Given the description of an element on the screen output the (x, y) to click on. 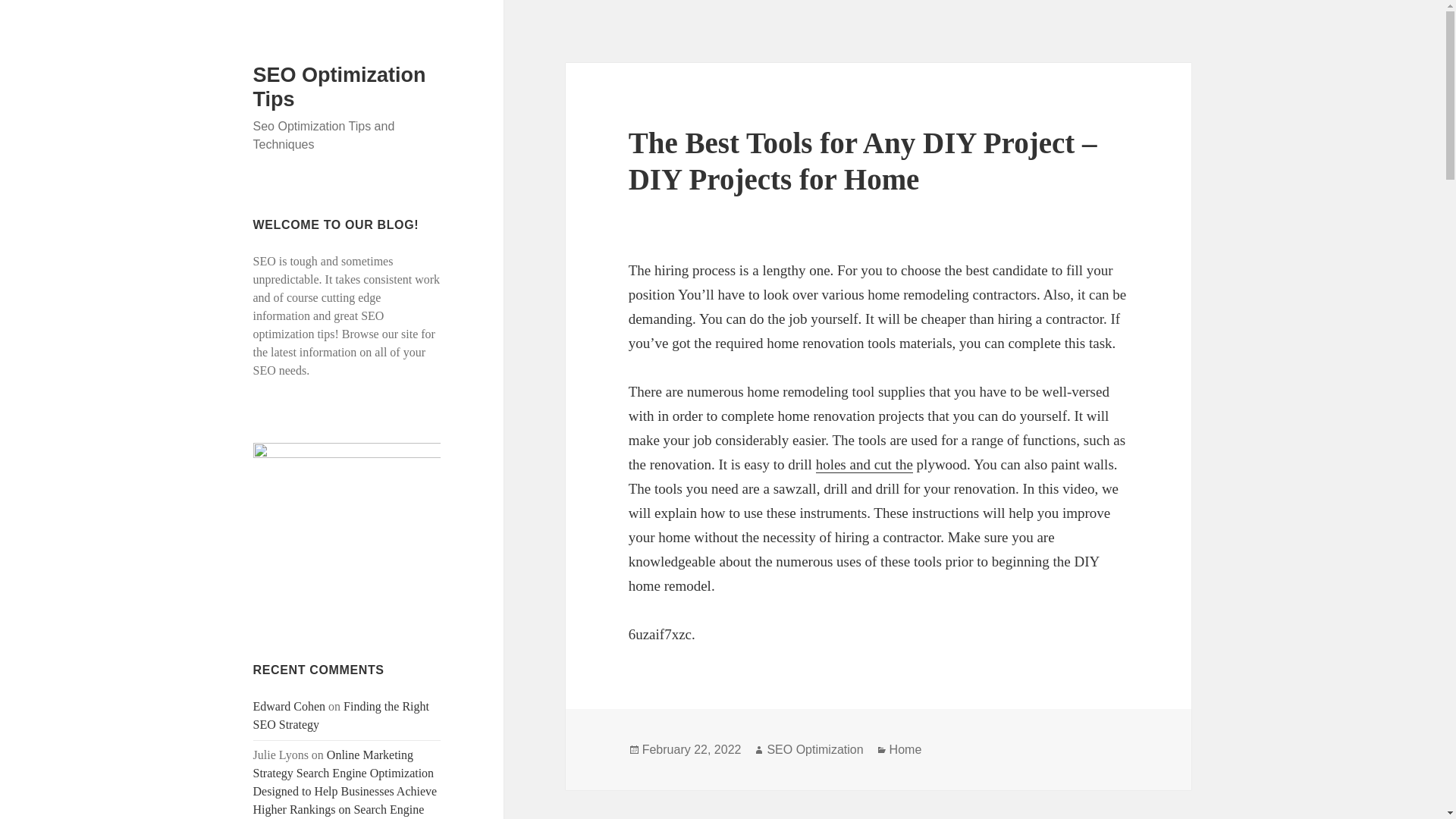
Edward Cohen (289, 706)
SEO Optimization Tips (339, 86)
Finding the Right SEO Strategy (341, 715)
